Given the description of an element on the screen output the (x, y) to click on. 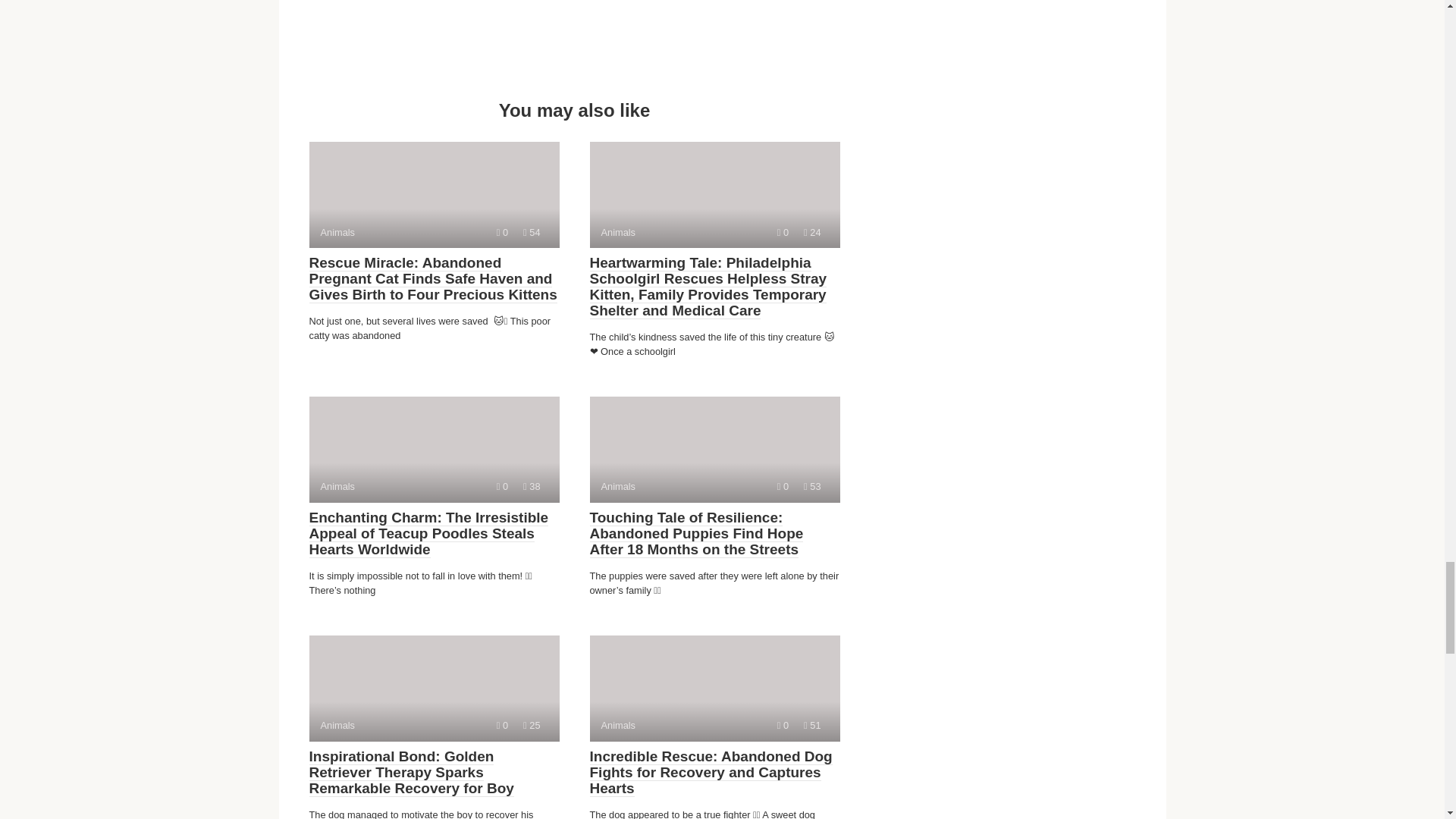
Views (714, 194)
Views (433, 194)
Views (714, 449)
Comments (531, 231)
Comments (812, 486)
